Given the description of an element on the screen output the (x, y) to click on. 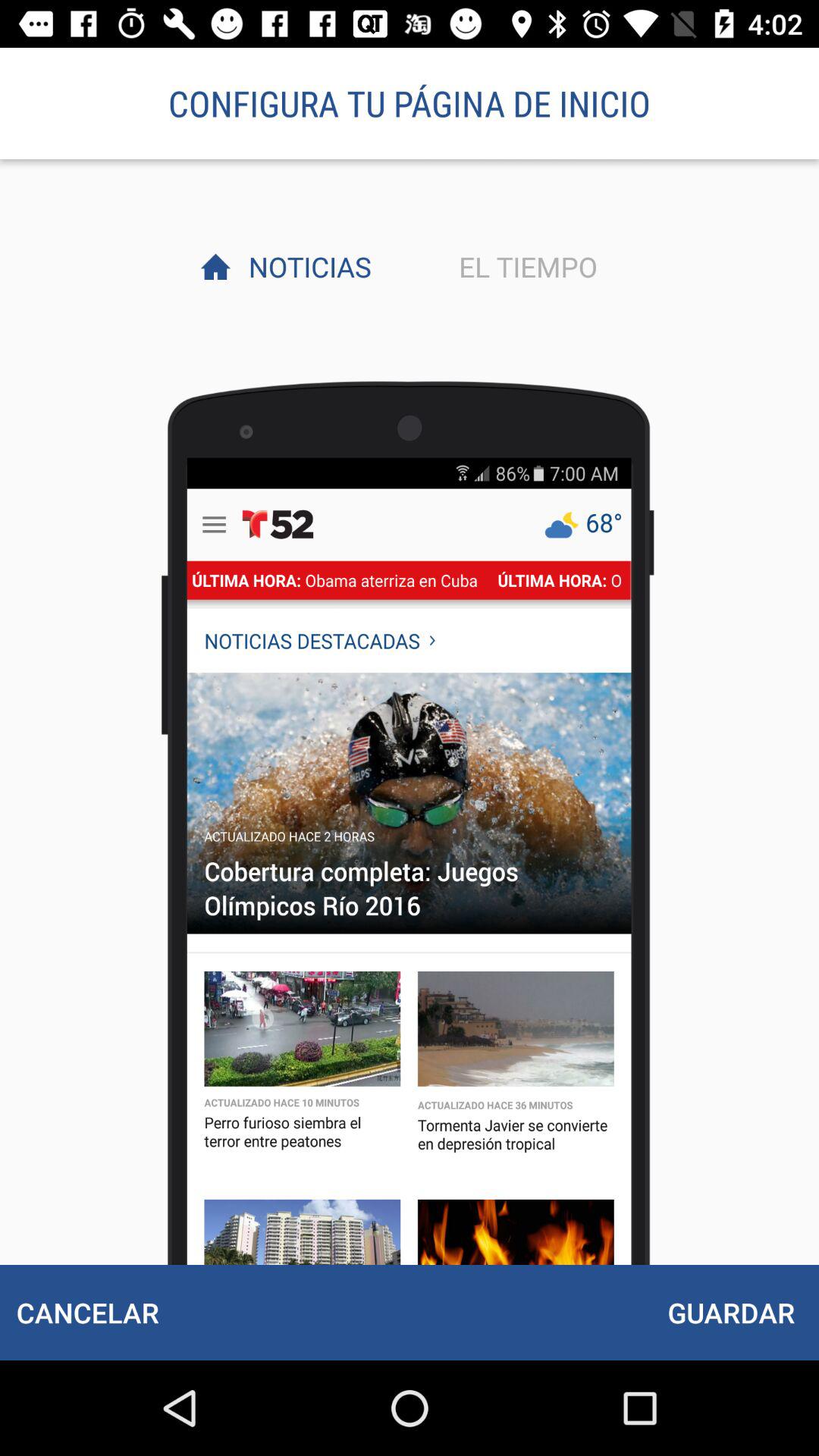
turn on the guardar icon (731, 1312)
